Given the description of an element on the screen output the (x, y) to click on. 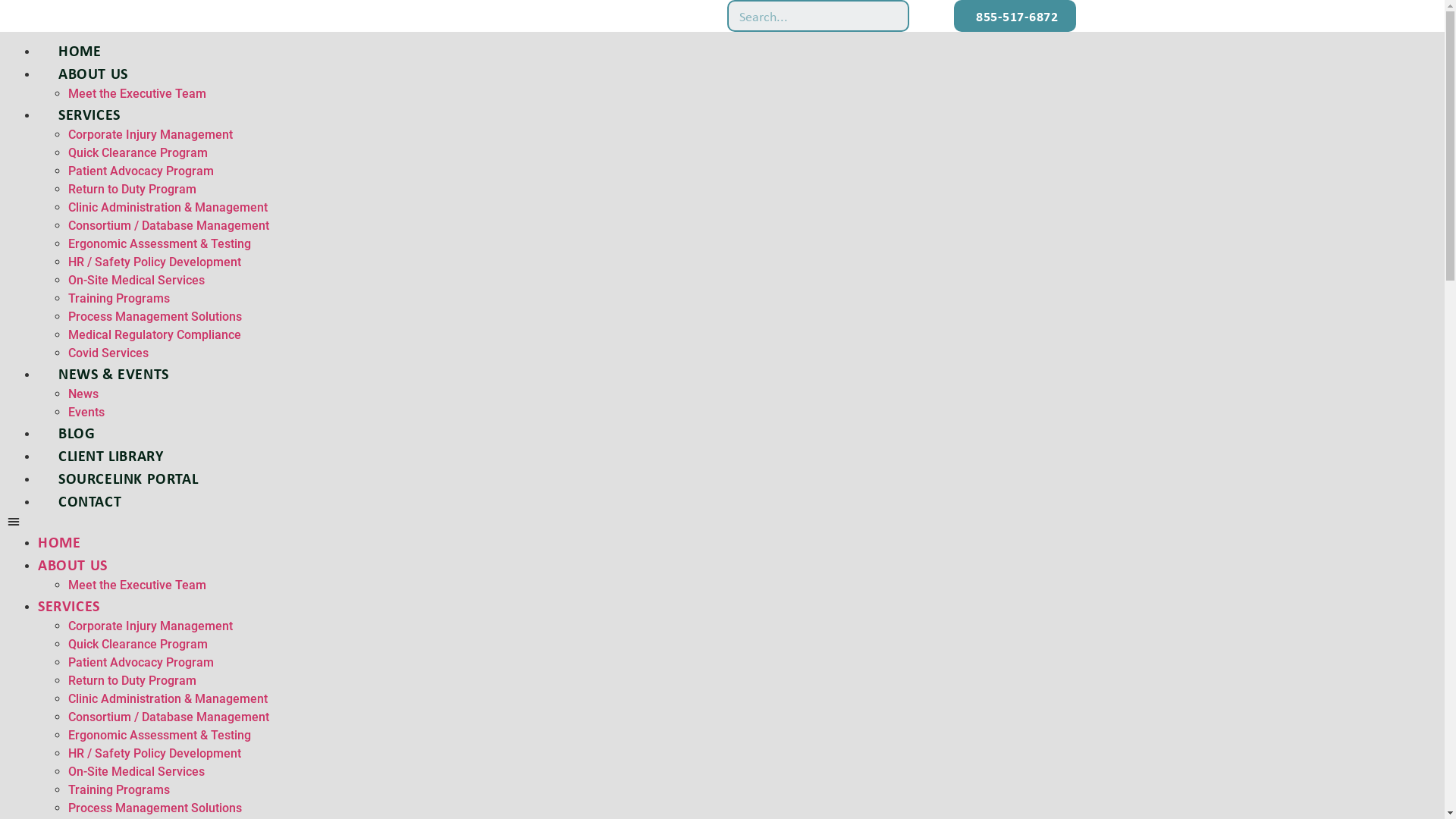
Process Management Solutions Element type: text (154, 807)
ABOUT US Element type: text (92, 72)
Clinic Administration & Management Element type: text (167, 207)
SERVICES Element type: text (68, 605)
Patient Advocacy Program Element type: text (140, 662)
Ergonomic Assessment & Testing Element type: text (159, 735)
HR / Safety Policy Development Element type: text (154, 261)
Patient Advocacy Program Element type: text (140, 170)
Search Element type: hover (801, 15)
ABOUT US Element type: text (72, 564)
News Element type: text (83, 393)
Meet the Executive Team Element type: text (137, 93)
CONTACT Element type: text (89, 500)
CLIENT LIBRARY Element type: text (110, 455)
Corporate Injury Management Element type: text (150, 134)
BLOG Element type: text (76, 432)
On-Site Medical Services Element type: text (136, 280)
Training Programs Element type: text (118, 789)
Training Programs Element type: text (118, 298)
On-Site Medical Services Element type: text (136, 771)
Process Management Solutions Element type: text (154, 316)
HOME Element type: text (79, 50)
Quick Clearance Program Element type: text (137, 644)
Medical Regulatory Compliance Element type: text (154, 334)
Consortium / Database Management Element type: text (168, 716)
Ergonomic Assessment & Testing Element type: text (159, 243)
Search Element type: hover (891, 15)
Quick Clearance Program Element type: text (137, 152)
Corporate Injury Management Element type: text (150, 625)
SERVICES Element type: text (89, 113)
Meet the Executive Team Element type: text (137, 584)
HOME Element type: text (58, 541)
855-517-6872 Element type: text (1014, 15)
Return to Duty Program Element type: text (132, 189)
NEWS & EVENTS Element type: text (113, 373)
Events Element type: text (86, 411)
HR / Safety Policy Development Element type: text (154, 753)
Return to Duty Program Element type: text (132, 680)
Covid Services Element type: text (108, 352)
Consortium / Database Management Element type: text (168, 225)
Clinic Administration & Management Element type: text (167, 698)
SOURCELINK PORTAL Element type: text (127, 477)
